Given the description of an element on the screen output the (x, y) to click on. 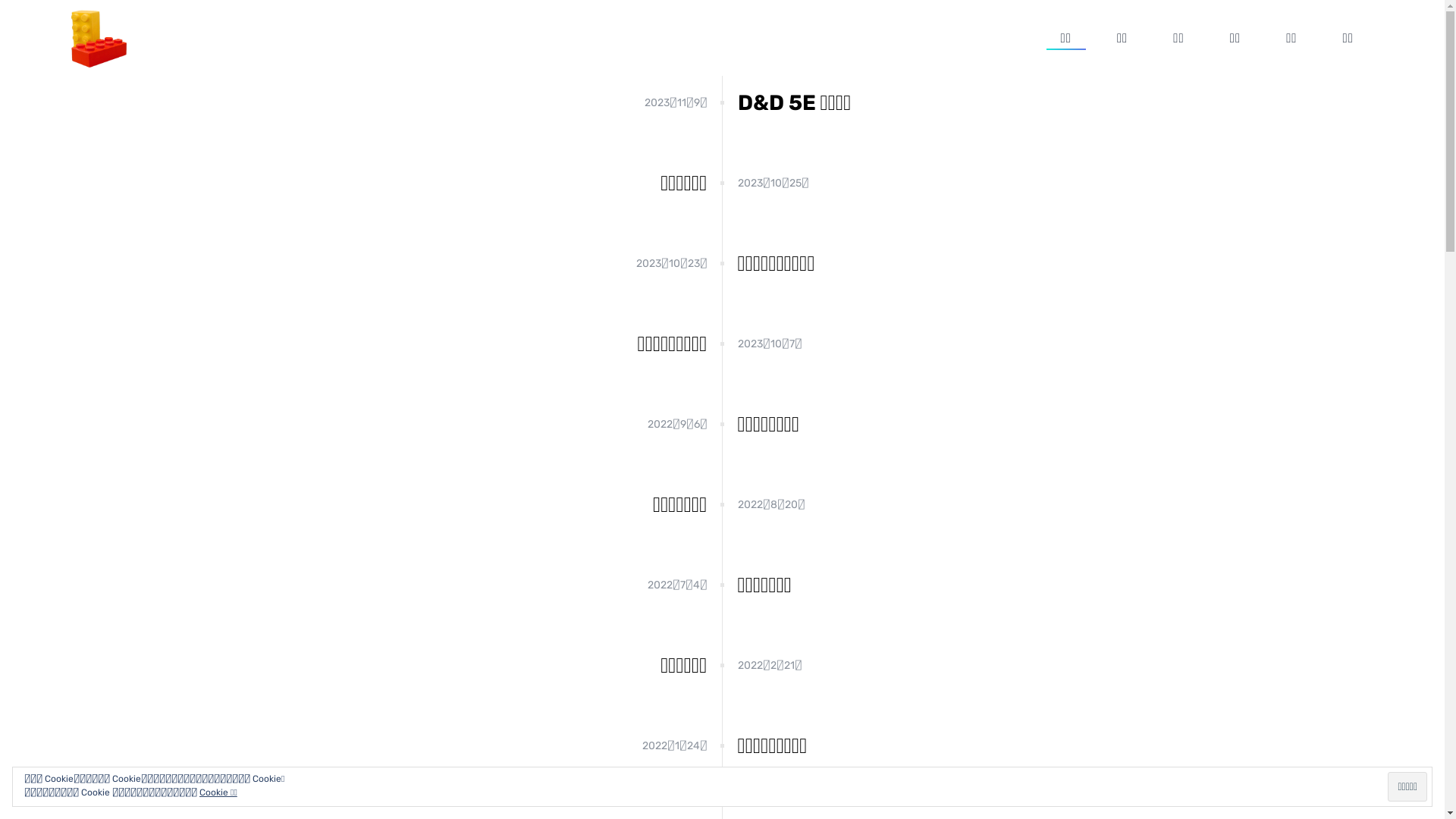
Lego Fan Element type: hover (98, 37)
